Given the description of an element on the screen output the (x, y) to click on. 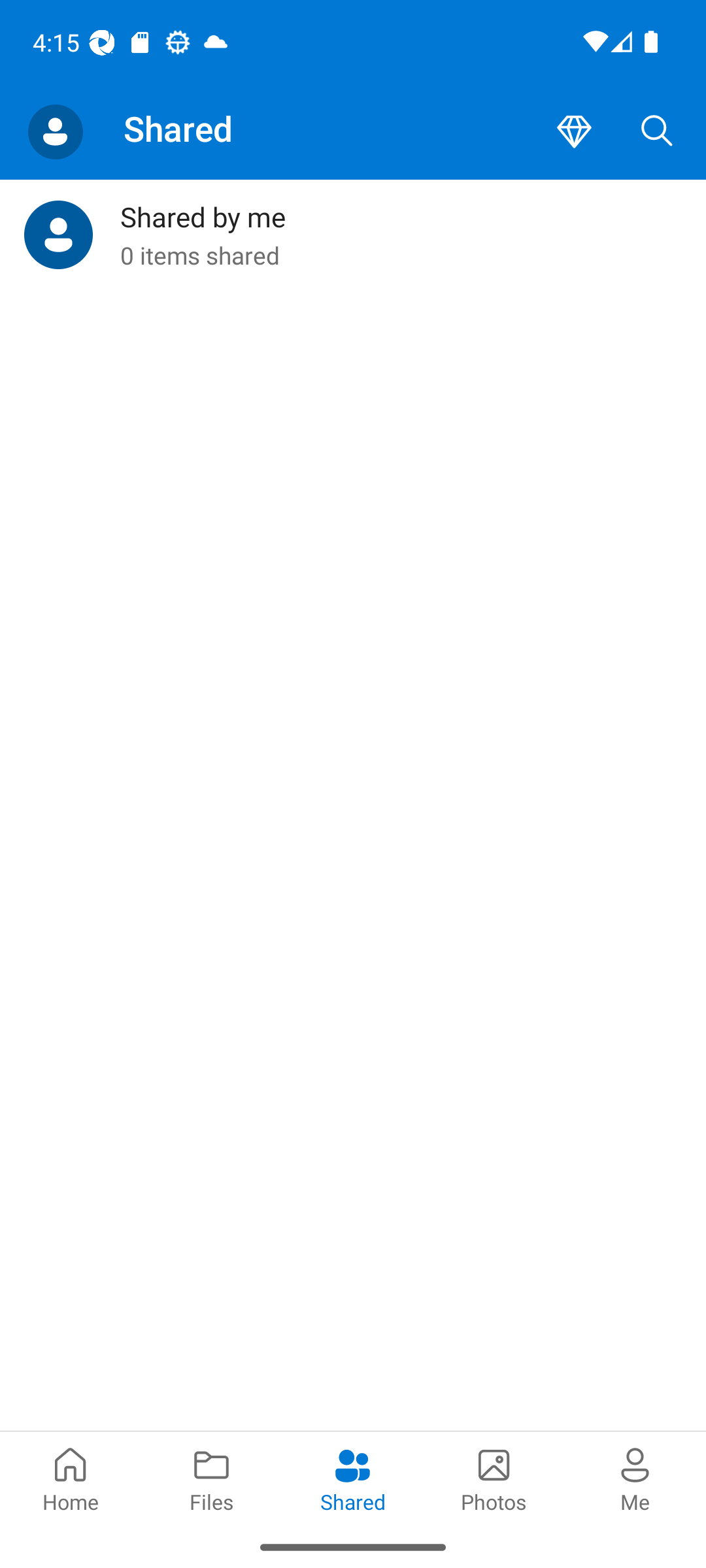
Account switcher (55, 131)
Premium button (574, 131)
Search button (656, 131)
0 Shared by me 0 items shared (353, 235)
Home pivot Home (70, 1478)
Files pivot Files (211, 1478)
Photos pivot Photos (493, 1478)
Me pivot Me (635, 1478)
